Given the description of an element on the screen output the (x, y) to click on. 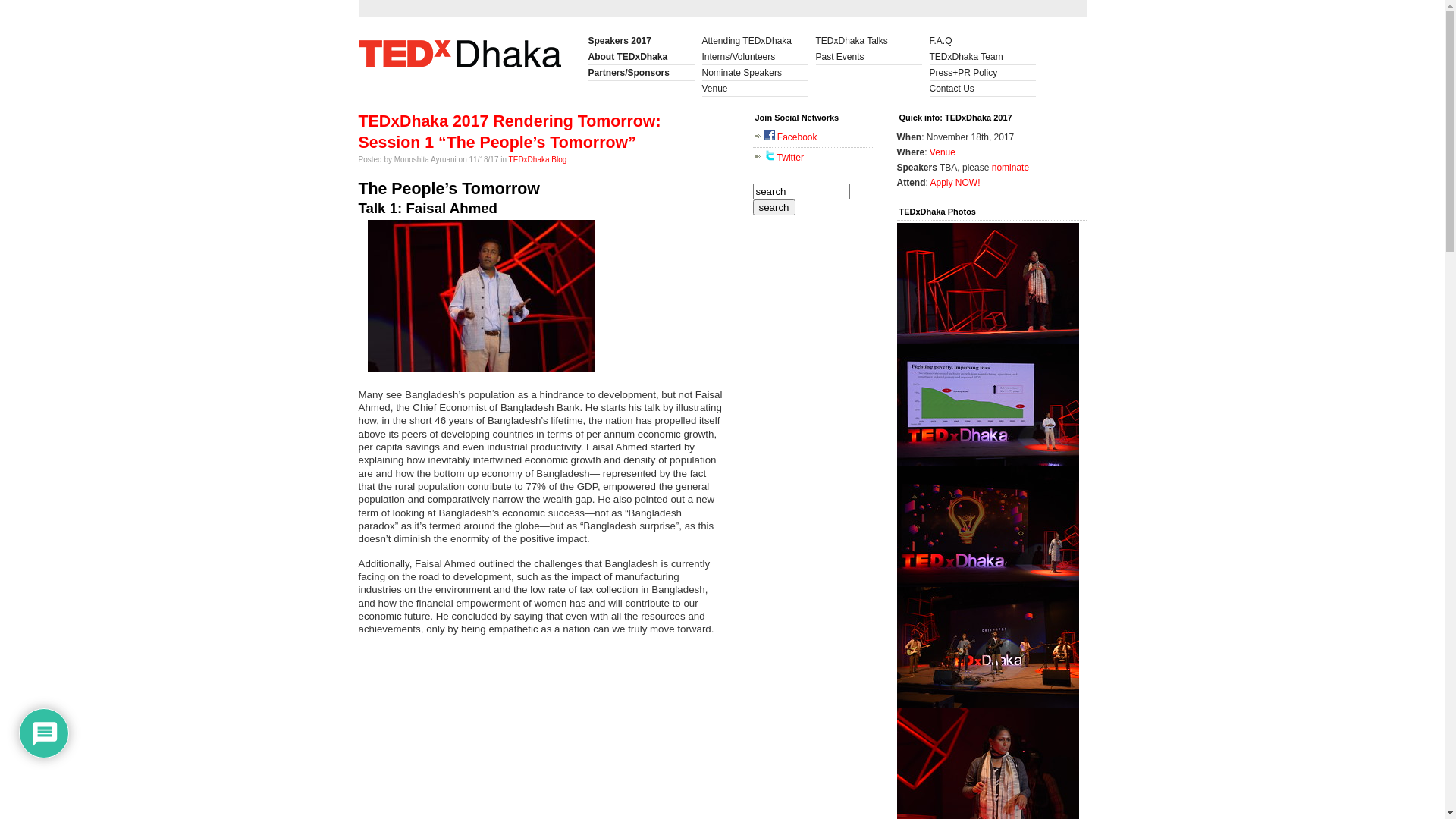
Interns/Volunteers Element type: text (755, 56)
Contact Us Element type: text (982, 88)
TEDxDhaka Blog Element type: text (537, 159)
nominate Element type: text (1010, 167)
About TEDxDhaka Element type: text (641, 56)
F.A.Q Element type: text (982, 40)
TEDxDhaka Talks Element type: text (868, 40)
Apply NOW! Element type: text (955, 182)
Past Events Element type: text (868, 56)
Attending TEDxDhaka Element type: text (755, 40)
Facebook Element type: text (790, 136)
Venue Element type: text (755, 88)
TEDxDhaka Team Element type: text (982, 56)
search Element type: text (773, 206)
Partners/Sponsors Element type: text (641, 72)
Speakers 2017 Element type: text (641, 40)
Press+PR Policy Element type: text (982, 72)
Twitter Element type: text (783, 156)
Nominate Speakers Element type: text (755, 72)
Venue Element type: text (942, 152)
